Given the description of an element on the screen output the (x, y) to click on. 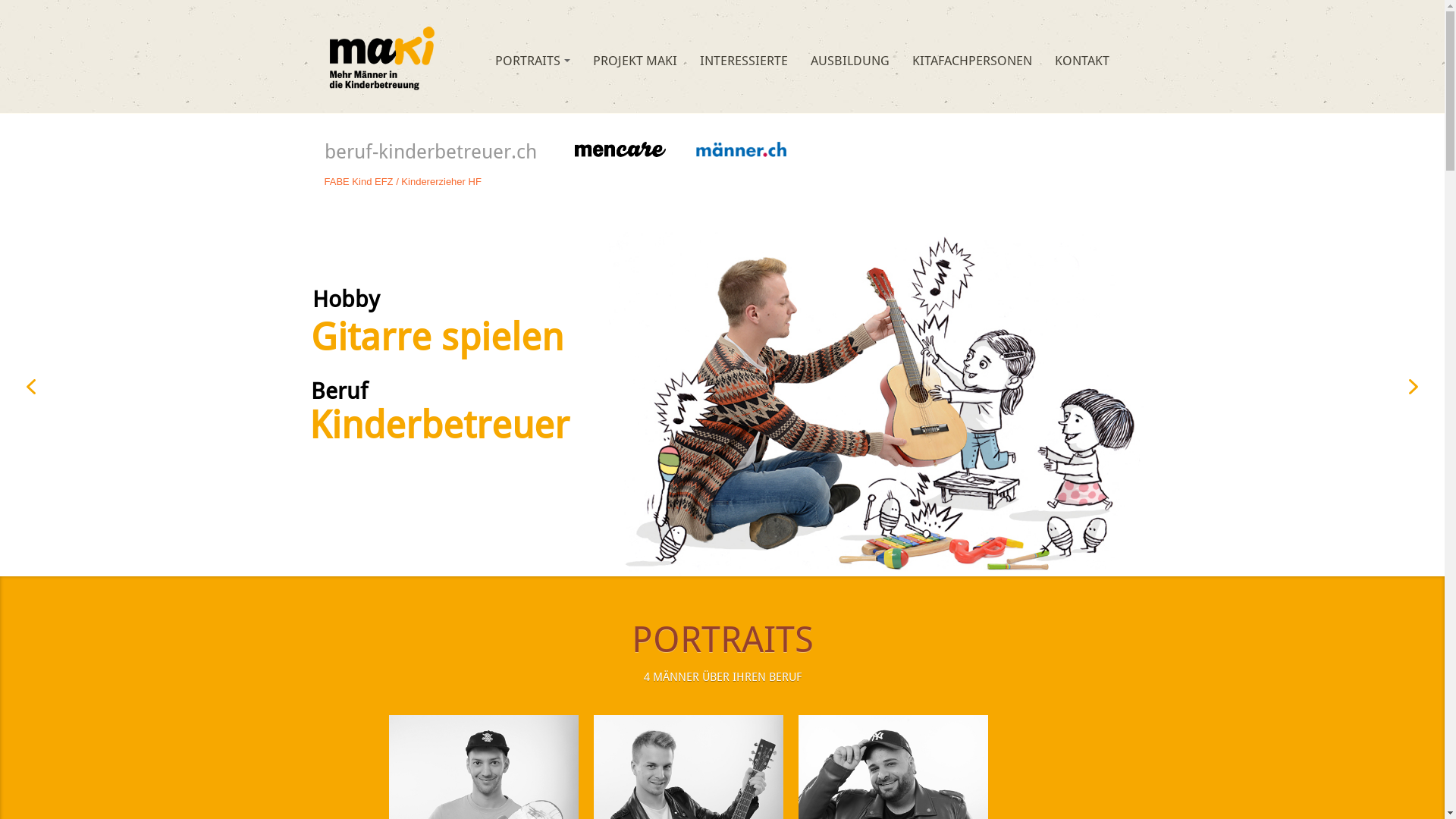
FABE Kind EFZ / Kindererzieher HF Element type: text (402, 181)
INTERESSIERTE Element type: text (743, 59)
Beruf
Hobby
Gitarre spielen
Kinderbetreuer Element type: text (721, 386)
beruf-kinderbetreuer.ch Element type: hover (381, 56)
PROJEKT MAKI Element type: text (635, 59)
PORTRAITS Element type: text (531, 59)
KITAFACHPERSONEN Element type: text (971, 59)
AUSBILDUNG Element type: text (848, 59)
KONTAKT Element type: text (1081, 59)
